Given the description of an element on the screen output the (x, y) to click on. 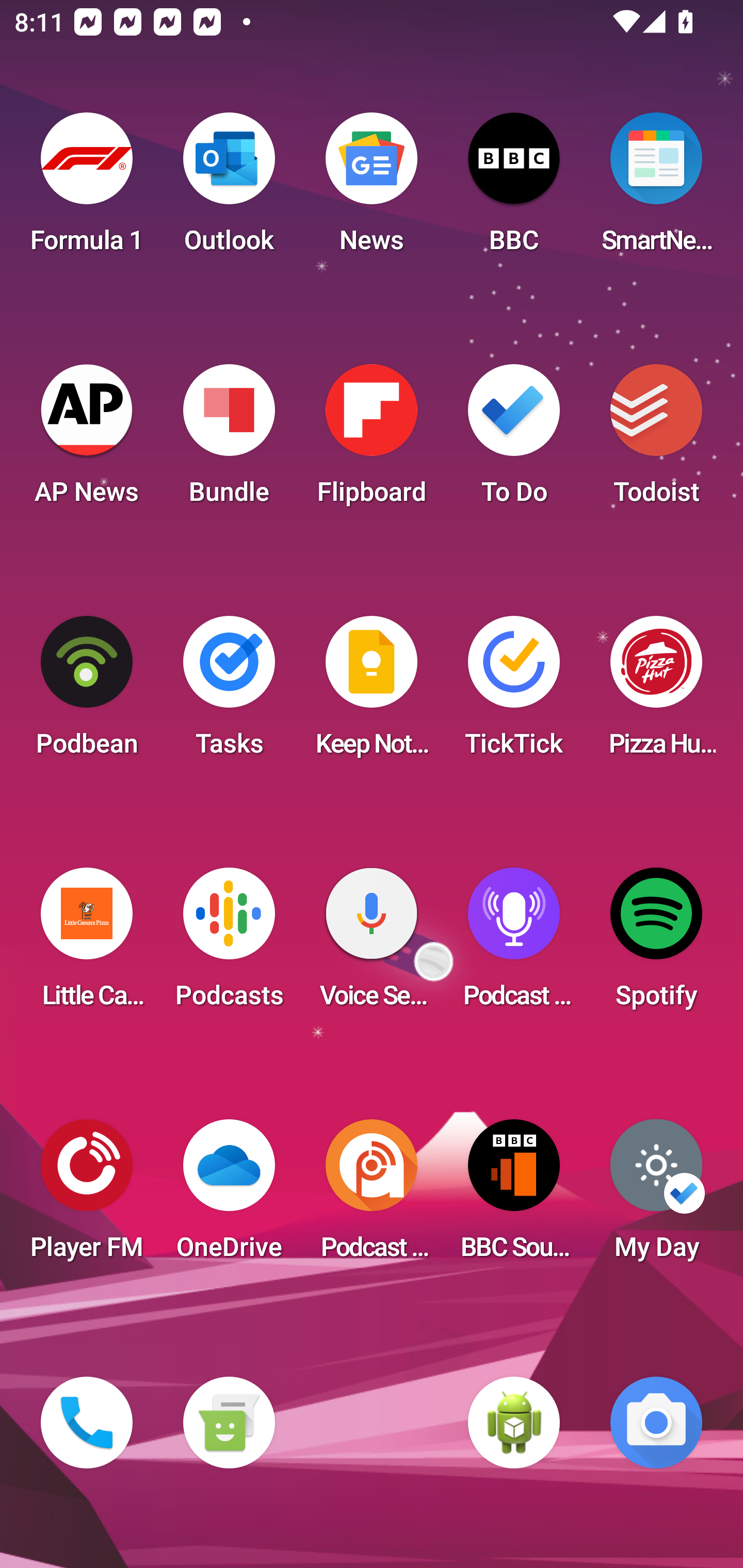
Formula 1 (86, 188)
Outlook (228, 188)
News (371, 188)
BBC (513, 188)
SmartNews (656, 188)
AP News (86, 440)
Bundle (228, 440)
Flipboard (371, 440)
To Do (513, 440)
Todoist (656, 440)
Podbean (86, 692)
Tasks (228, 692)
Keep Notes (371, 692)
TickTick (513, 692)
Pizza Hut HK & Macau (656, 692)
Little Caesars Pizza (86, 943)
Podcasts (228, 943)
Voice Search (371, 943)
Podcast Player (513, 943)
Spotify (656, 943)
Player FM (86, 1195)
OneDrive (228, 1195)
Podcast Addict (371, 1195)
BBC Sounds (513, 1195)
My Day (656, 1195)
Phone (86, 1422)
Messaging (228, 1422)
WebView Browser Tester (513, 1422)
Camera (656, 1422)
